Given the description of an element on the screen output the (x, y) to click on. 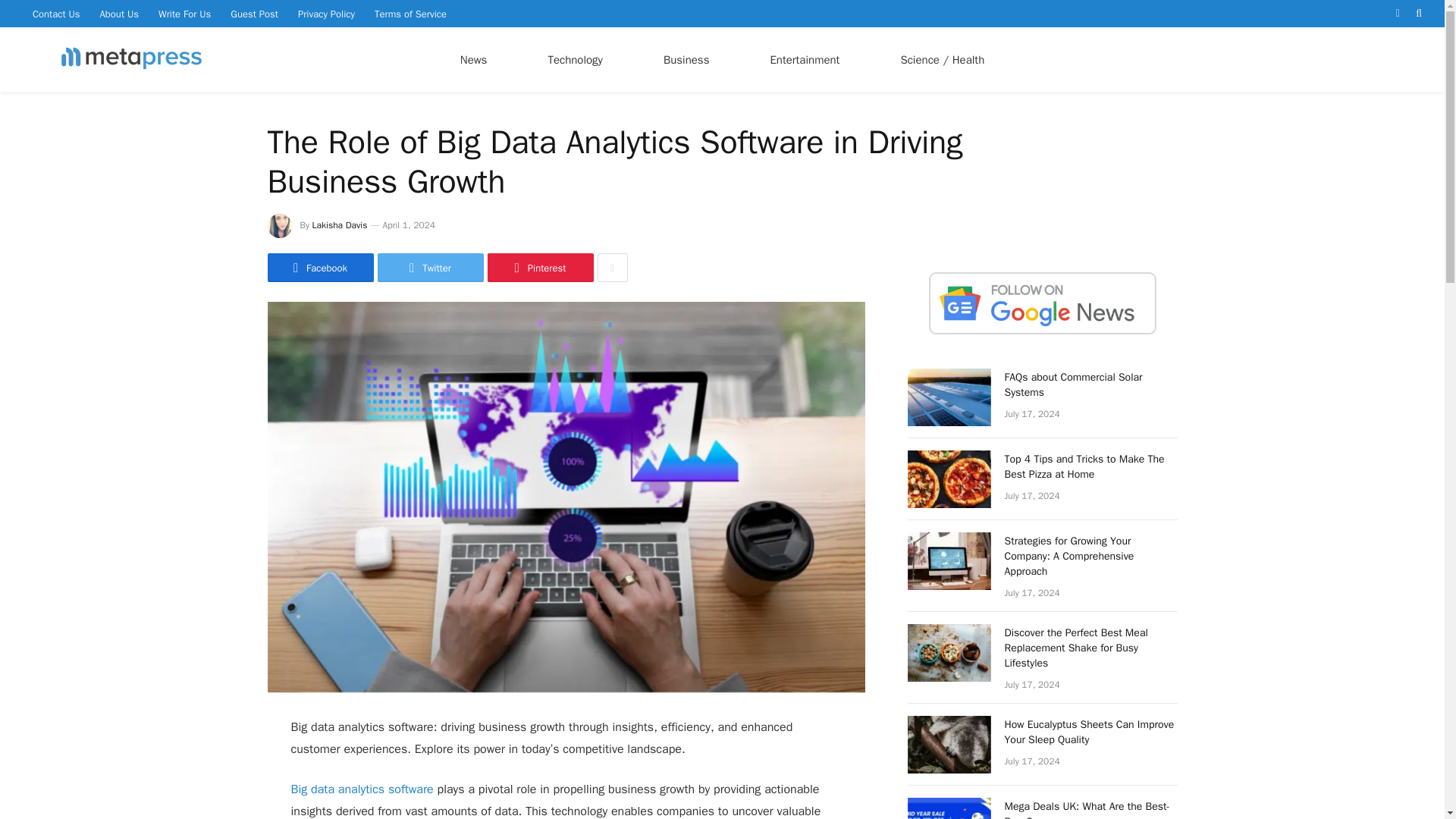
Switch to Dark Design - easier on eyes. (1397, 13)
Terms of Service (411, 13)
Posts by Lakisha Davis (340, 224)
Entertainment (804, 59)
Share on Pinterest (539, 267)
Contact Us (56, 13)
Show More Social Sharing (611, 267)
Pinterest (539, 267)
Guest Post (254, 13)
Technology (574, 59)
Privacy Policy (326, 13)
Share on Facebook (319, 267)
Twitter (430, 267)
Facebook (319, 267)
